Given the description of an element on the screen output the (x, y) to click on. 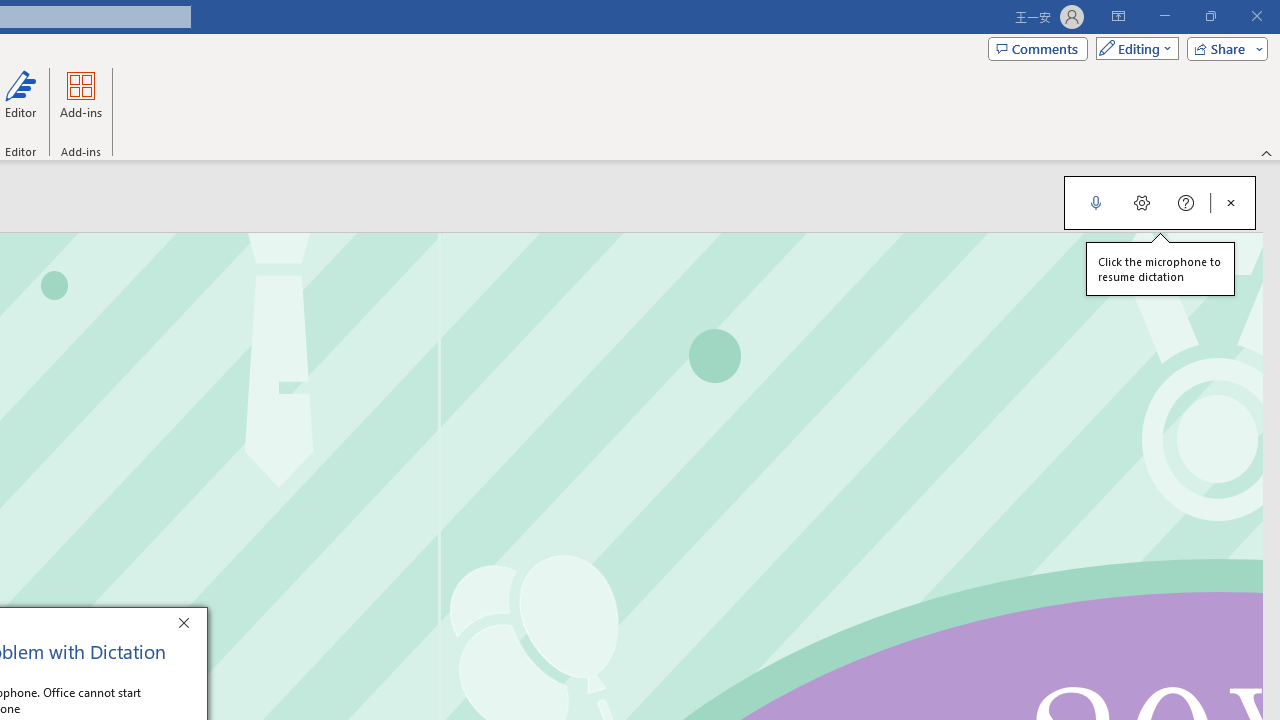
Close Dictation (1231, 202)
